Given the description of an element on the screen output the (x, y) to click on. 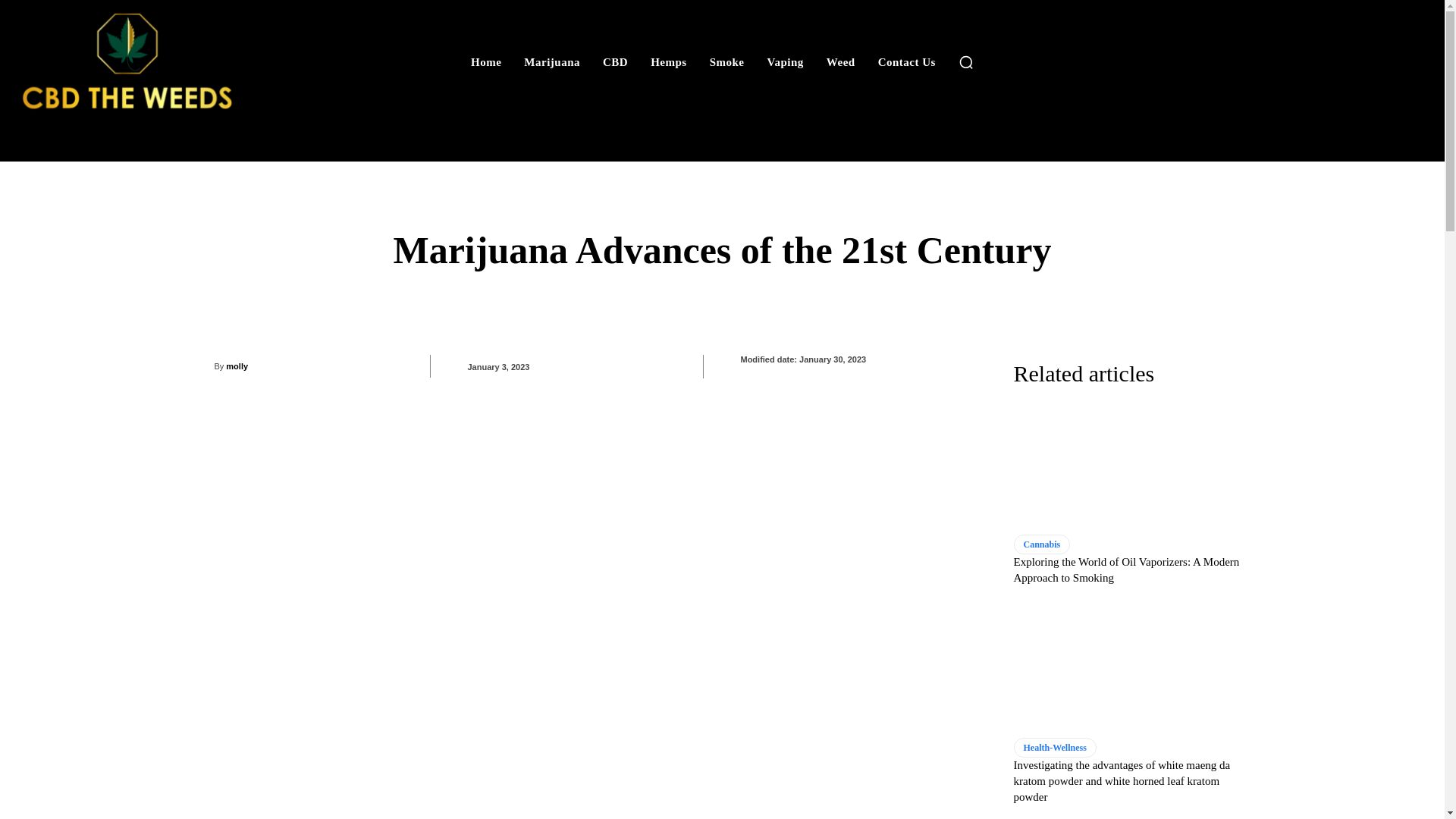
CBD (614, 61)
Home (485, 61)
Weed (840, 61)
Marijuana (552, 61)
Contact Us (906, 61)
molly (236, 365)
Hemps (668, 61)
molly (203, 365)
Smoke (726, 61)
Vaping (785, 61)
